Given the description of an element on the screen output the (x, y) to click on. 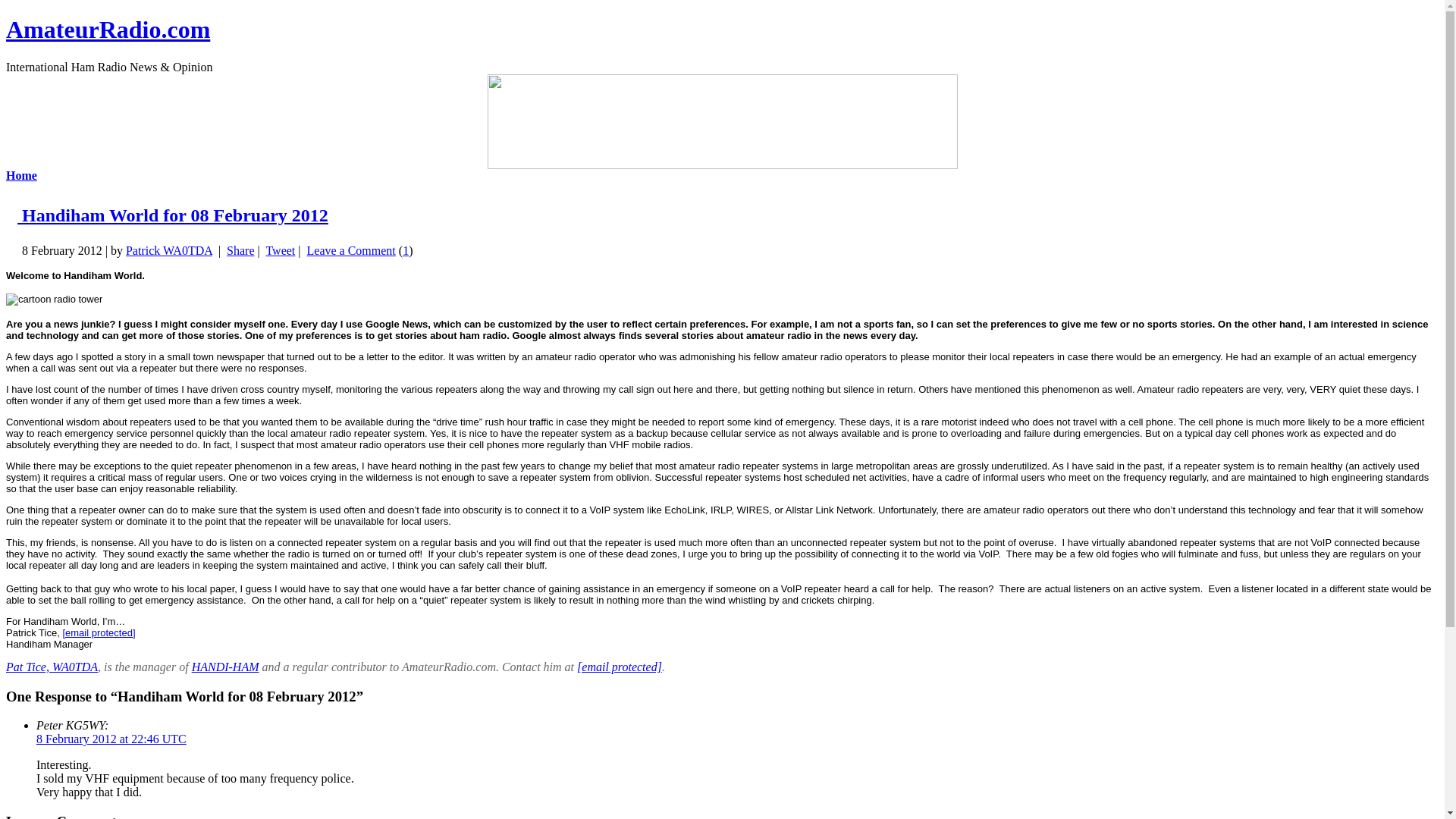
Tweet (279, 250)
Pat Tice, WA0TDA (51, 666)
Share (240, 250)
8 February 2012 at 22:46 UTC (111, 738)
Leave a Comment (351, 250)
Patrick WA0TDA (168, 250)
HANDI-HAM (225, 666)
Home (21, 174)
Handiham World for 08 February 2012 (173, 215)
Handiham World for 08 February 2012 (173, 215)
AmateurRadio.com (107, 29)
